Given the description of an element on the screen output the (x, y) to click on. 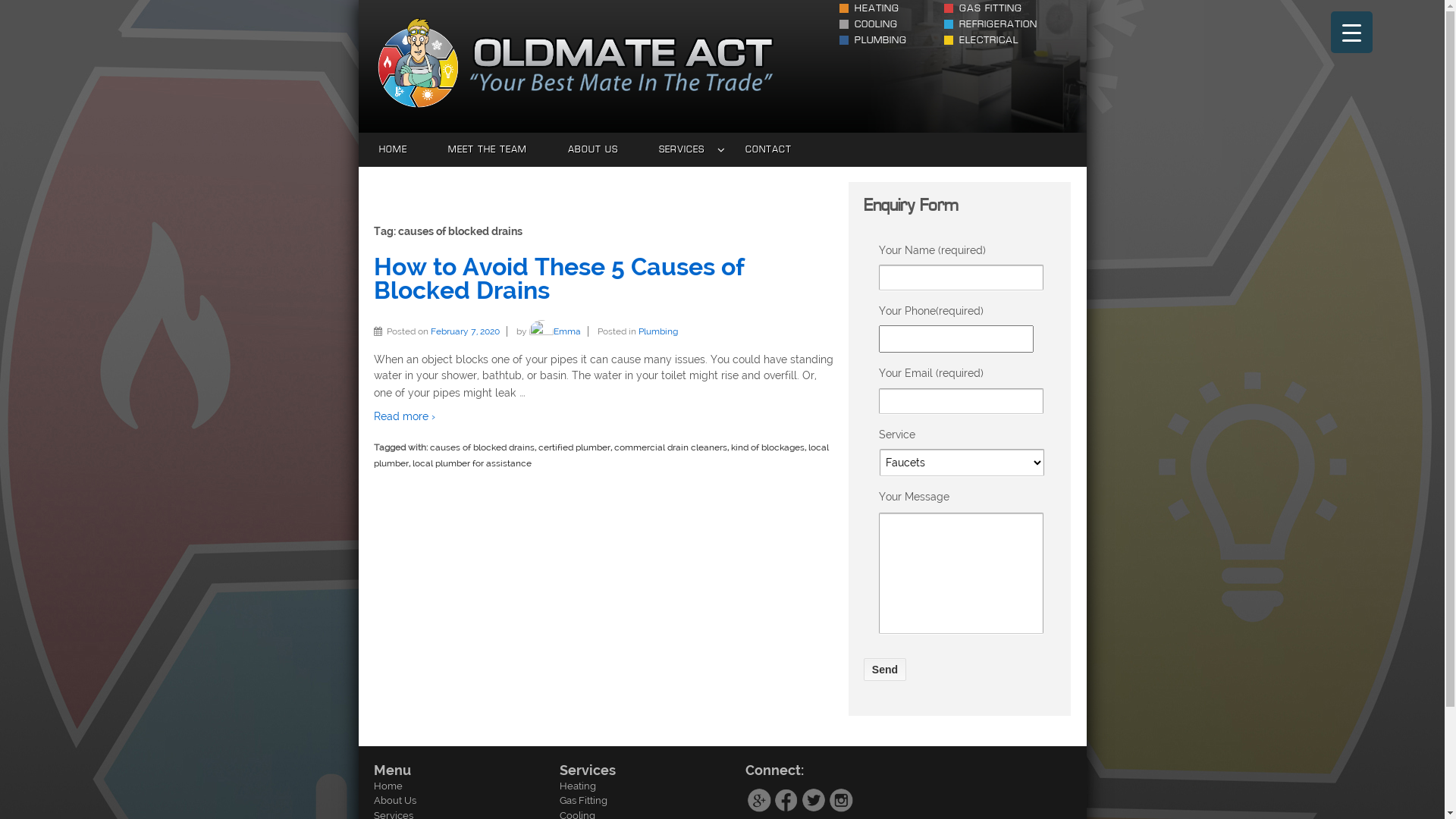
kind of blockages Element type: text (767, 447)
SERVICES Element type: text (681, 149)
Send Element type: text (884, 669)
Heating Element type: text (577, 785)
How to Avoid These 5 Causes of Blocked Drains Element type: text (558, 278)
COOLING Element type: text (868, 23)
Instagram Element type: hover (840, 799)
Plumbing Element type: text (657, 331)
About Us Element type: text (394, 800)
Gas Fitting Element type: text (583, 800)
HOME Element type: text (392, 149)
Google Element type: hover (758, 799)
Twitter Element type: hover (813, 798)
Twitter Element type: hover (813, 799)
PLUMBING Element type: text (872, 39)
REFRIGERATION Element type: text (990, 23)
MEET THE TEAM Element type: text (487, 149)
causes of blocked drains Element type: text (481, 447)
local plumber Element type: text (600, 455)
Instagram Element type: hover (840, 798)
certified plumber Element type: text (574, 447)
ABOUT US Element type: text (593, 149)
CONTACT Element type: text (768, 149)
Emma Element type: text (554, 331)
Facebook Element type: hover (786, 799)
Google Element type: hover (758, 798)
February 7, 2020 Element type: text (468, 331)
commercial drain cleaners Element type: text (670, 447)
GAS FITTING Element type: text (983, 7)
local plumber for assistance Element type: text (471, 463)
HEATING Element type: text (869, 7)
Home Element type: text (387, 785)
Facebook Element type: hover (786, 798)
ELECTRICAL Element type: text (981, 39)
